Given the description of an element on the screen output the (x, y) to click on. 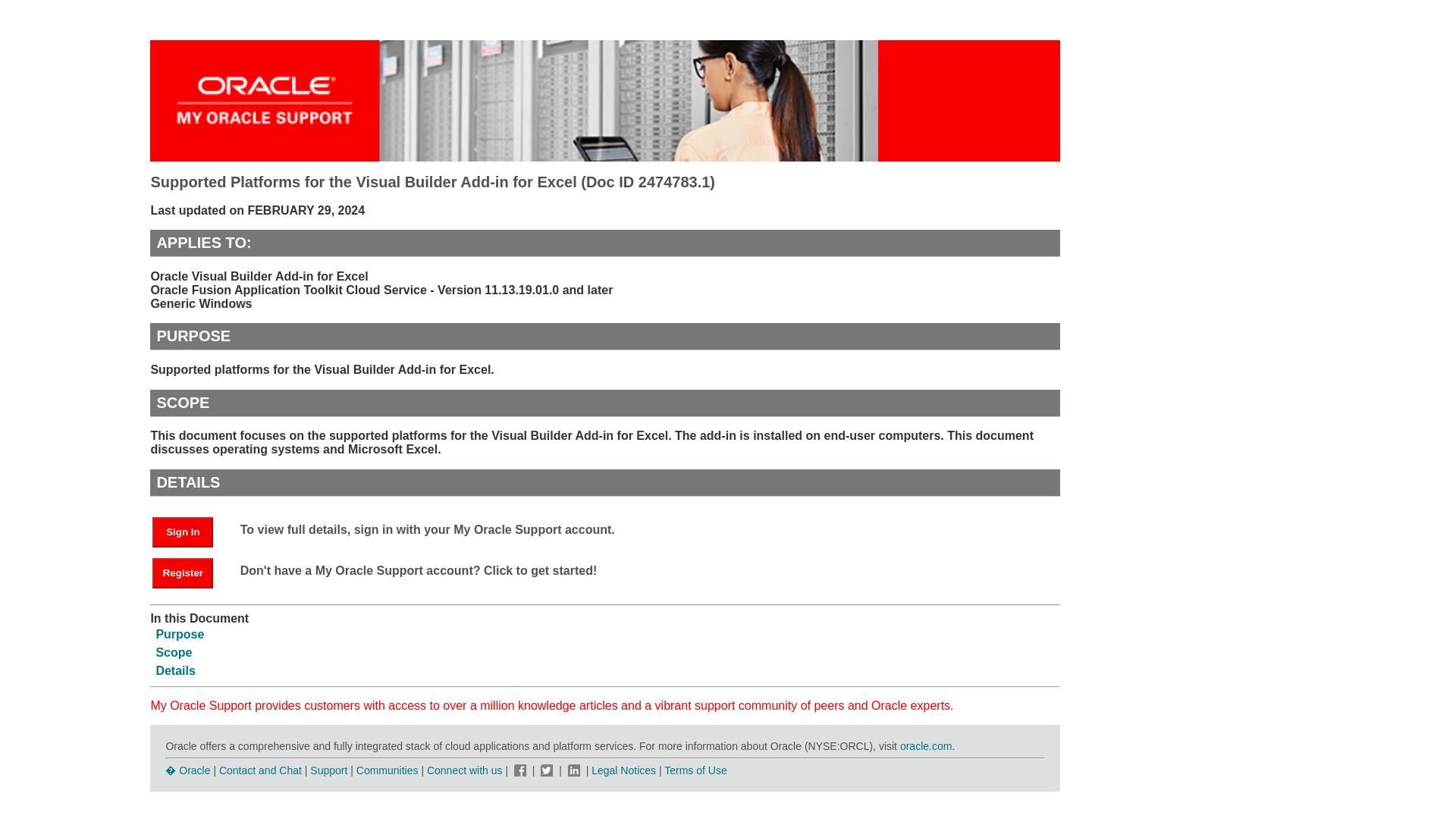
Contact and Chat (260, 770)
Scope (173, 652)
Connect with us (465, 770)
Register (190, 571)
Purpose (179, 634)
Legal Notices (623, 770)
Register (182, 572)
Communities (387, 770)
Sign In (190, 530)
Sign In (182, 531)
